Given the description of an element on the screen output the (x, y) to click on. 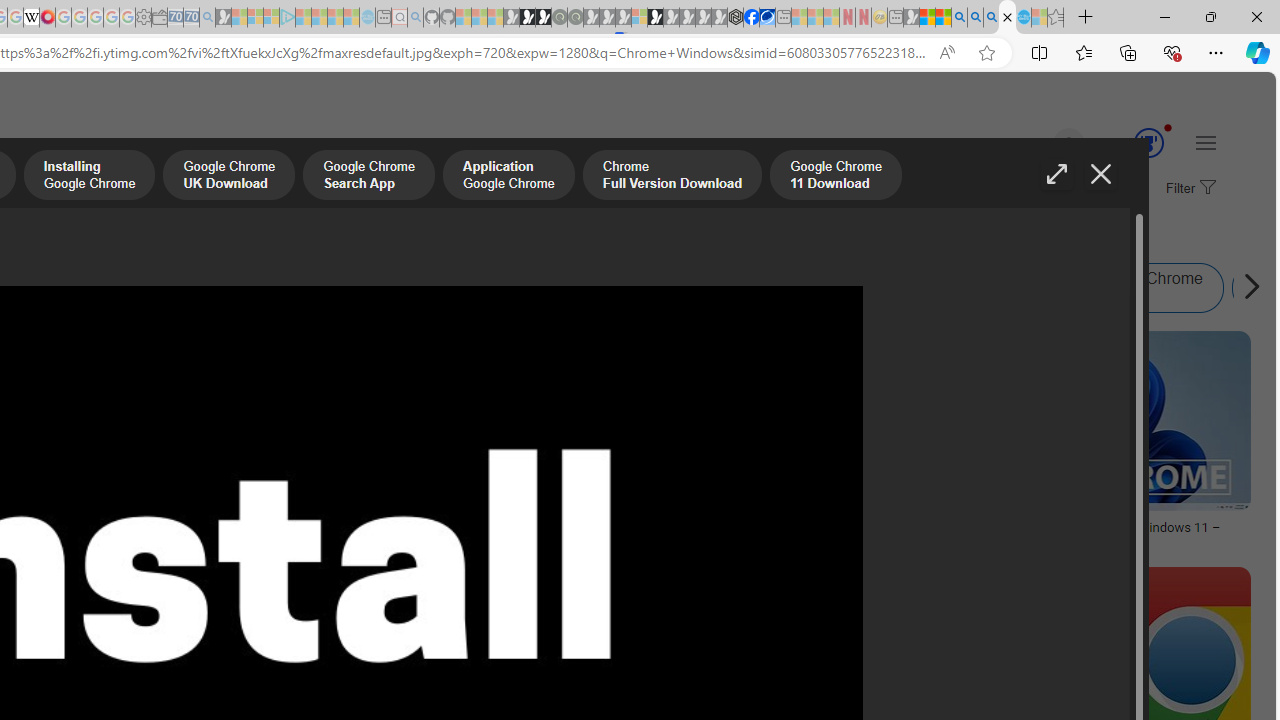
Sign in to your account - Sleeping (639, 17)
Nordace - Cooler Bags (735, 17)
Home | Sky Blue Bikes - Sky Blue Bikes - Sleeping (367, 17)
Wallet - Sleeping (159, 17)
Nordace | Facebook (751, 17)
Acer Chromebooks (260, 521)
AirNow.gov (767, 17)
